Given the description of an element on the screen output the (x, y) to click on. 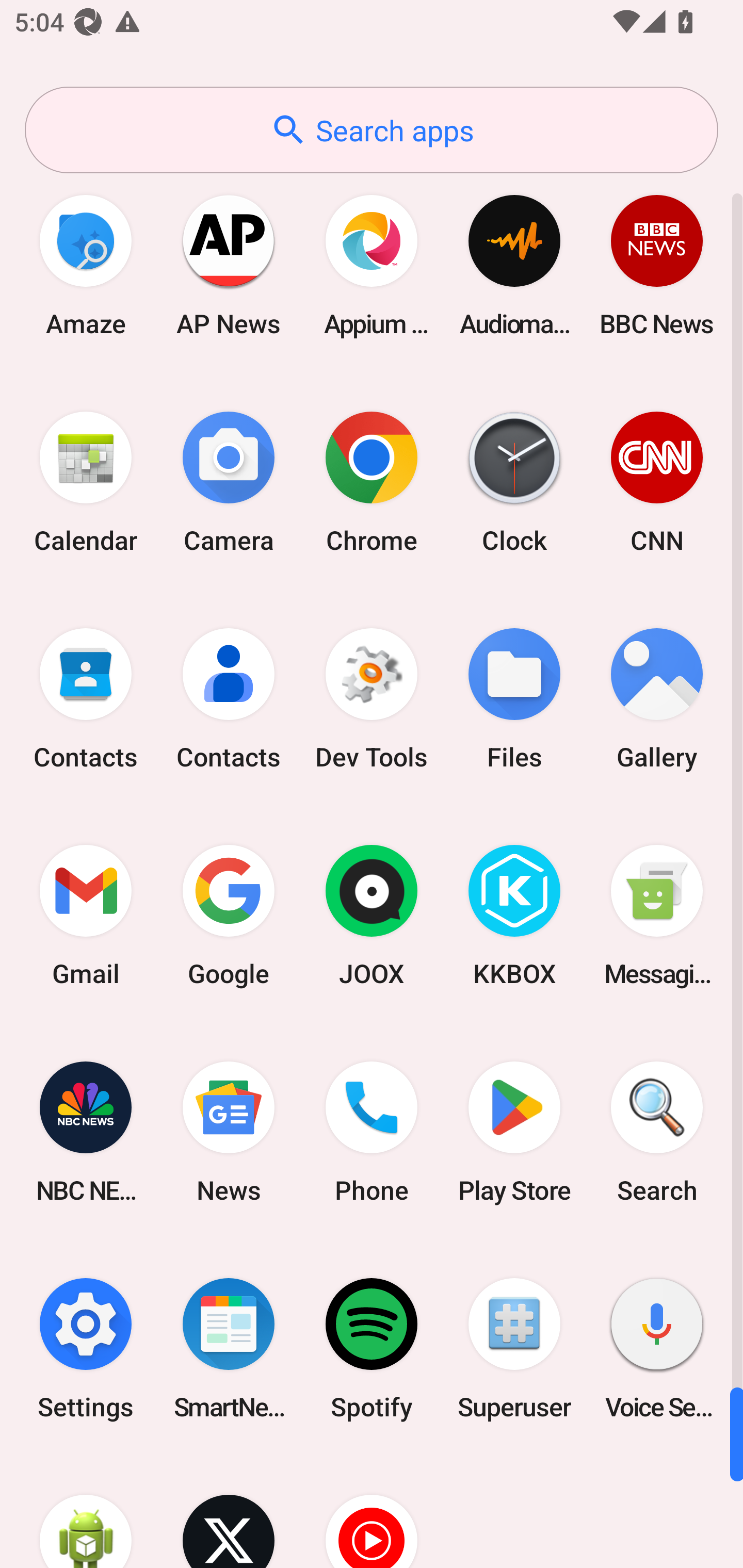
  Search apps (371, 130)
Amaze (85, 264)
AP News (228, 264)
Appium Settings (371, 264)
Audio­mack (514, 264)
BBC News (656, 264)
Calendar (85, 482)
Camera (228, 482)
Chrome (371, 482)
Clock (514, 482)
CNN (656, 482)
Contacts (85, 699)
Contacts (228, 699)
Dev Tools (371, 699)
Files (514, 699)
Gallery (656, 699)
Gmail (85, 915)
Google (228, 915)
JOOX (371, 915)
KKBOX (514, 915)
Messaging (656, 915)
NBC NEWS (85, 1131)
News (228, 1131)
Phone (371, 1131)
Play Store (514, 1131)
Search (656, 1131)
Settings (85, 1348)
SmartNews (228, 1348)
Spotify (371, 1348)
Superuser (514, 1348)
Voice Search (656, 1348)
WebView Browser Tester (85, 1512)
X (228, 1512)
YT Music (371, 1512)
